Given the description of an element on the screen output the (x, y) to click on. 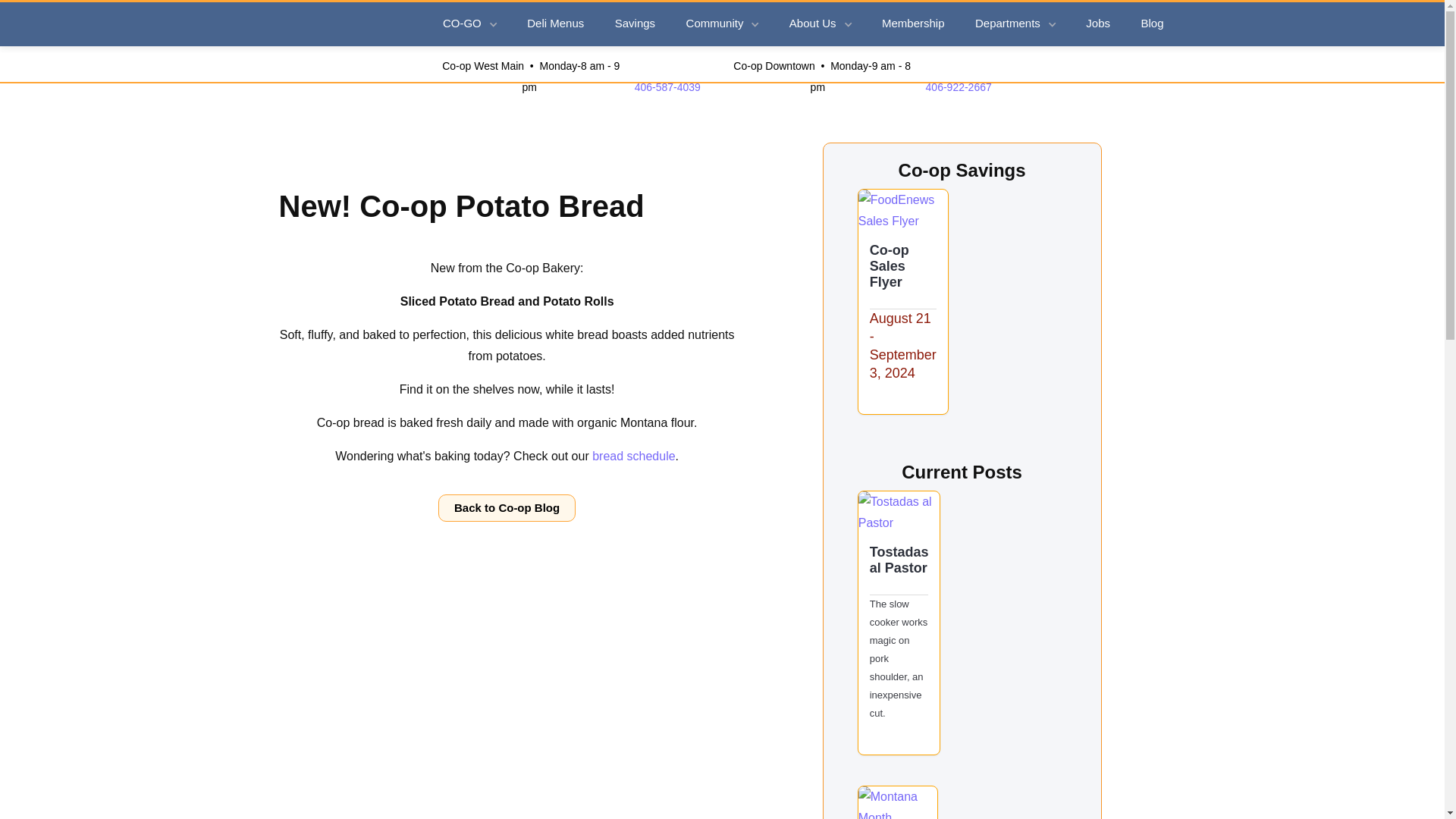
Directions (820, 76)
Click to Call (958, 87)
Blog (1152, 23)
bread schedule (633, 455)
Savings (635, 23)
406-587-4039 (667, 87)
Savings Page (903, 210)
Montana Month (897, 802)
Membership (914, 23)
